Given the description of an element on the screen output the (x, y) to click on. 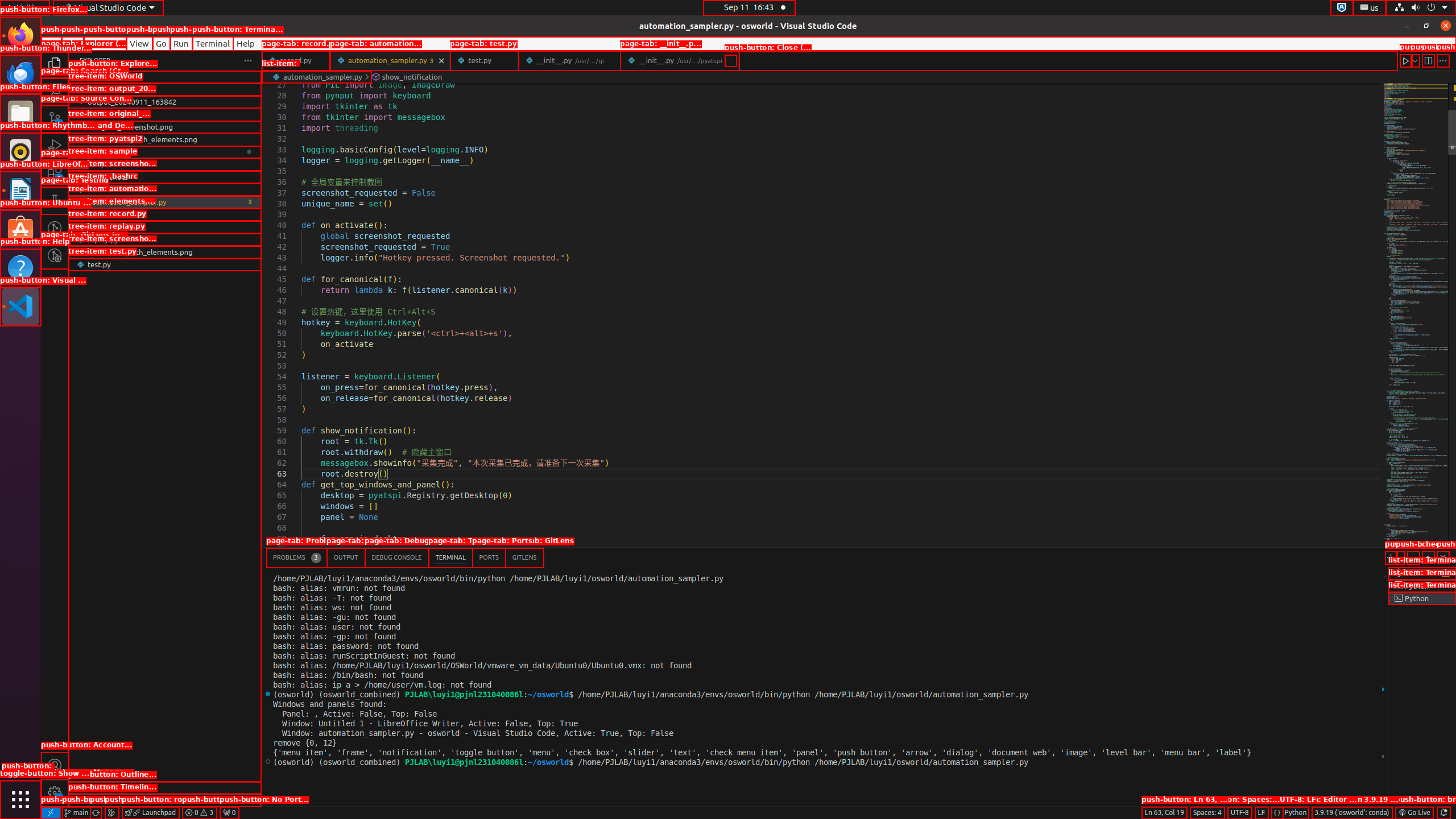
Firefox Web Browser Element type: push-button (20, 35)
OSWorld (Git) - main, Checkout Branch/Tag... Element type: push-button (75, 812)
Run Element type: push-button (181, 43)
